Given the description of an element on the screen output the (x, y) to click on. 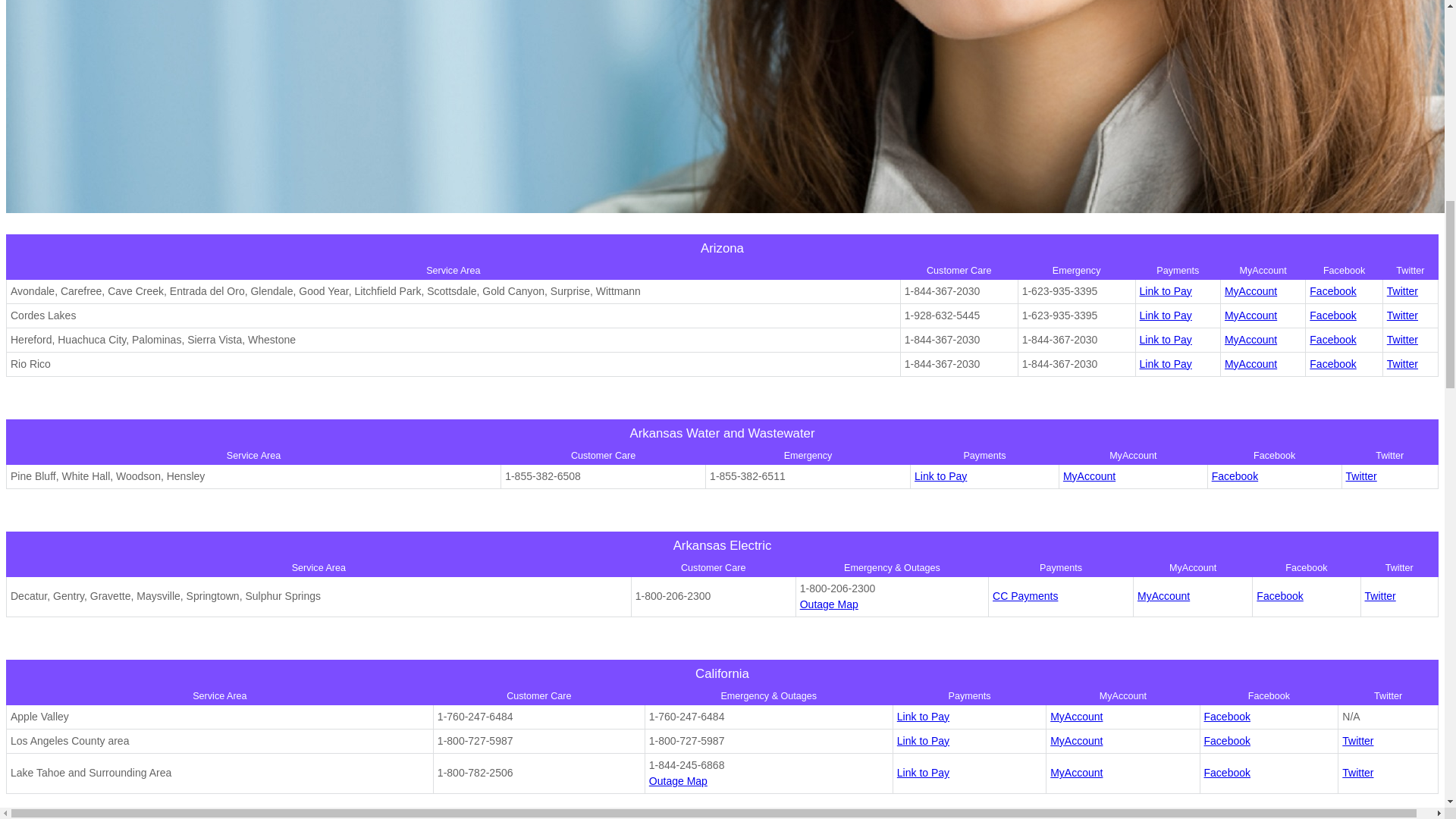
Facebook (1331, 363)
Link to Pay (922, 740)
Facebook (1279, 595)
CC Payments (1025, 595)
Twitter (1402, 291)
Link to Pay (940, 476)
Facebook (1227, 716)
Outage Map (829, 604)
Facebook (1331, 339)
Link to Pay (1166, 315)
Link to Pay (1166, 291)
Facebook (1331, 315)
Facebook (1331, 291)
MyAccount (1250, 315)
Facebook (1234, 476)
